Given the description of an element on the screen output the (x, y) to click on. 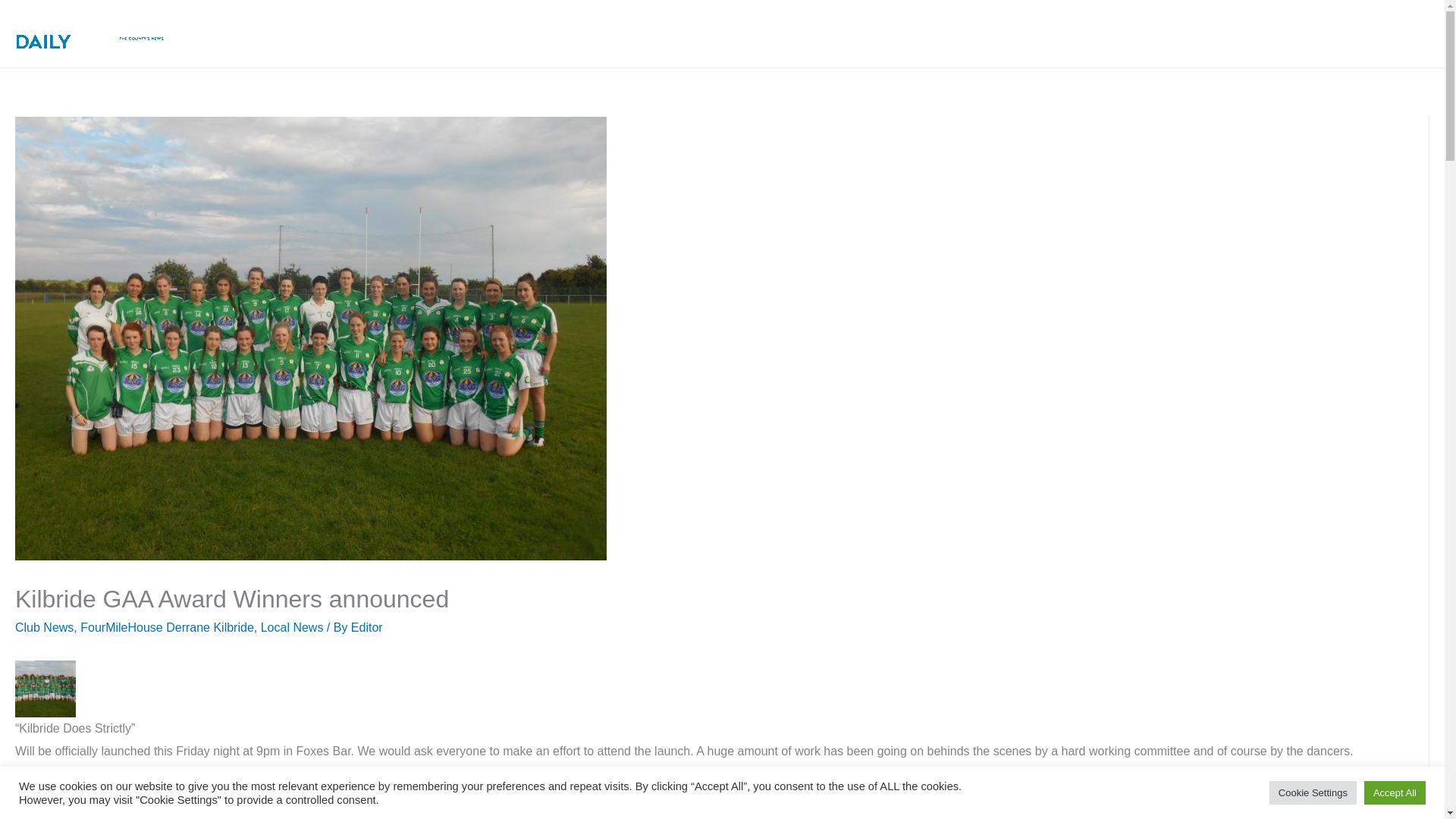
HOUSES FOR SALE (1004, 33)
Club News (44, 626)
BUSINESS DIRECTORY (1161, 33)
CONTACT US (1371, 33)
NEWS (703, 33)
HOME (634, 33)
FourMileHouse Derrane Kilbride (166, 626)
DEATH NOTICES (800, 33)
View all posts by Editor (366, 626)
SPORT (894, 33)
JOBS (1276, 33)
Editor (366, 626)
Local News (291, 626)
